Given the description of an element on the screen output the (x, y) to click on. 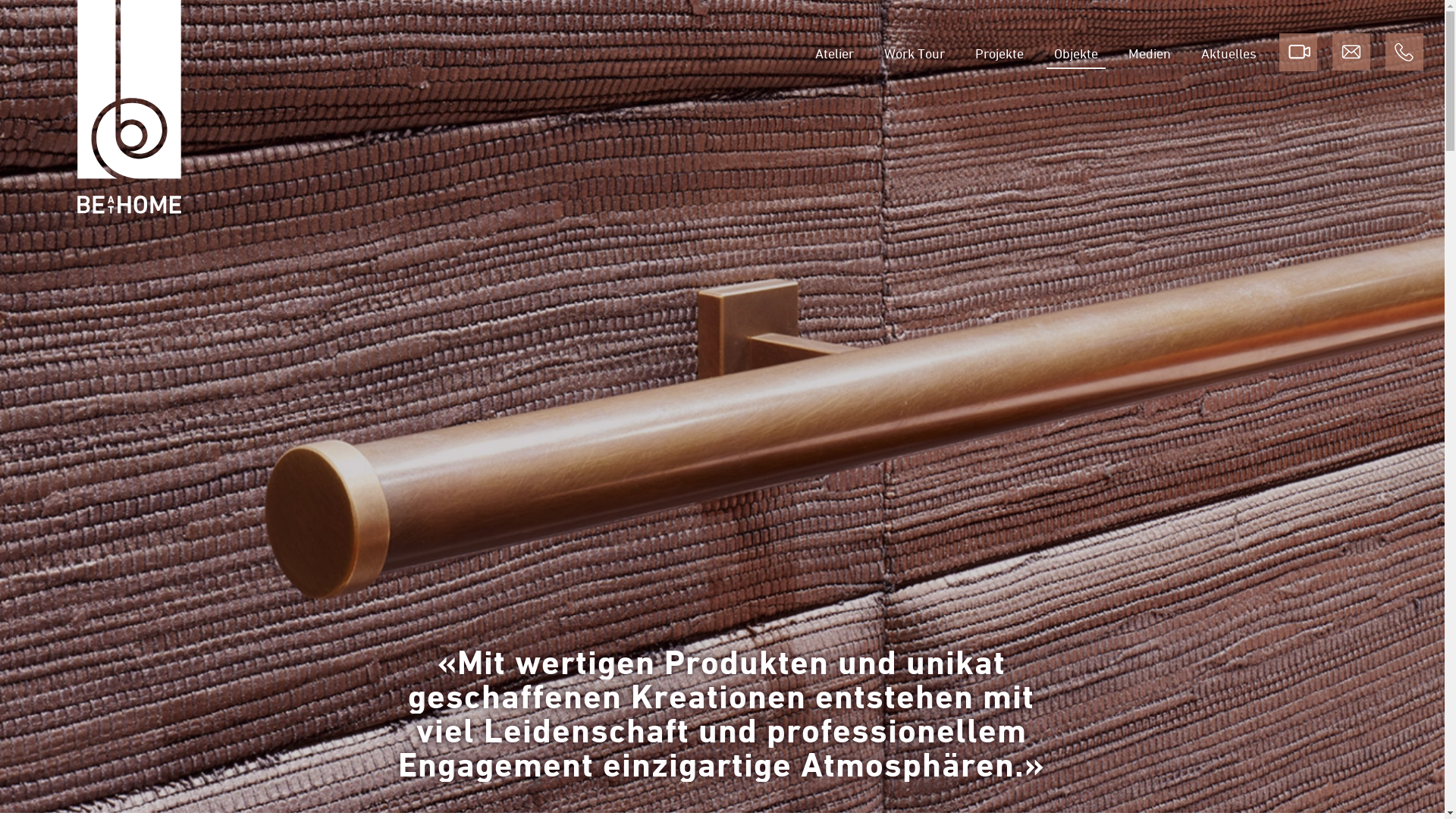
Medien Element type: text (1149, 53)
Objekte Element type: text (1075, 53)
Work Tour Element type: text (914, 53)
Atelier Element type: text (834, 53)
Projekte Element type: text (999, 53)
Aktuelles Element type: text (1228, 53)
